Given the description of an element on the screen output the (x, y) to click on. 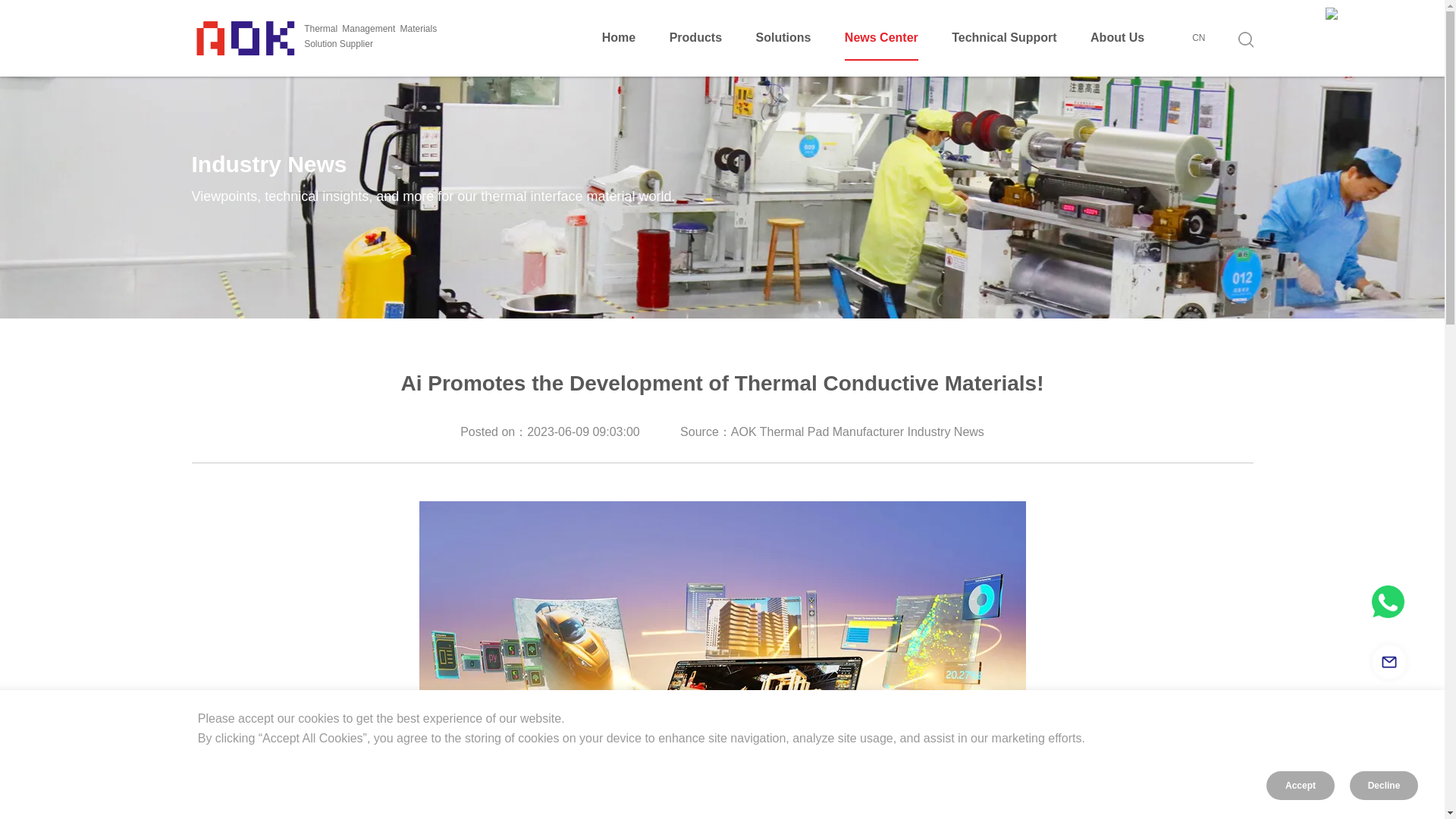
Hi, how can I help? (1388, 601)
Send inquiry (1388, 661)
Thermal Management Materials Solution Supplier (323, 36)
News Center (881, 38)
Technical Support (1004, 38)
Back to Top (1389, 725)
